Given the description of an element on the screen output the (x, y) to click on. 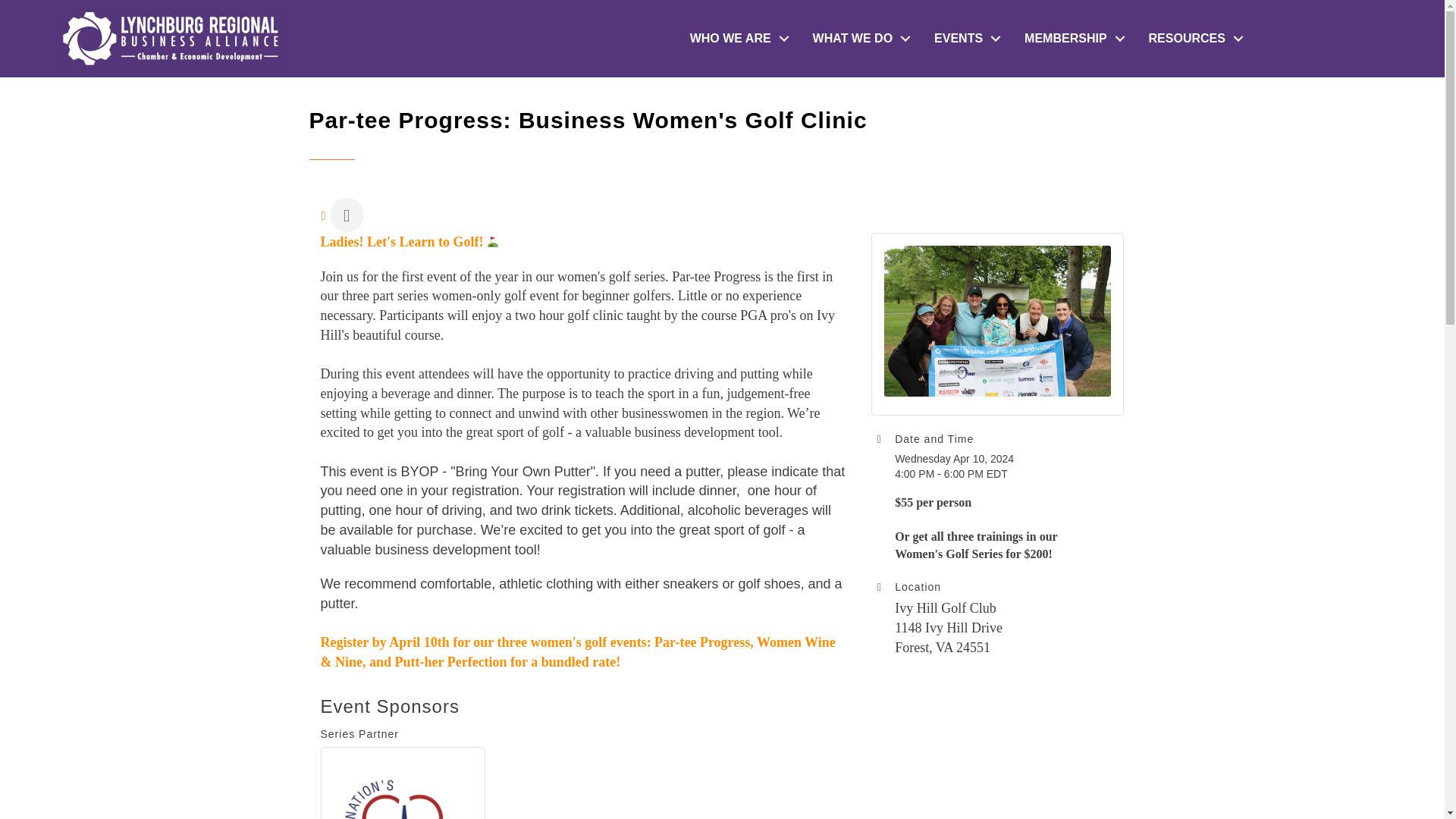
WHAT WE DO (857, 38)
White Transpancyhorizontal (169, 38)
EVENTS (963, 38)
WHO WE ARE (735, 38)
